Given the description of an element on the screen output the (x, y) to click on. 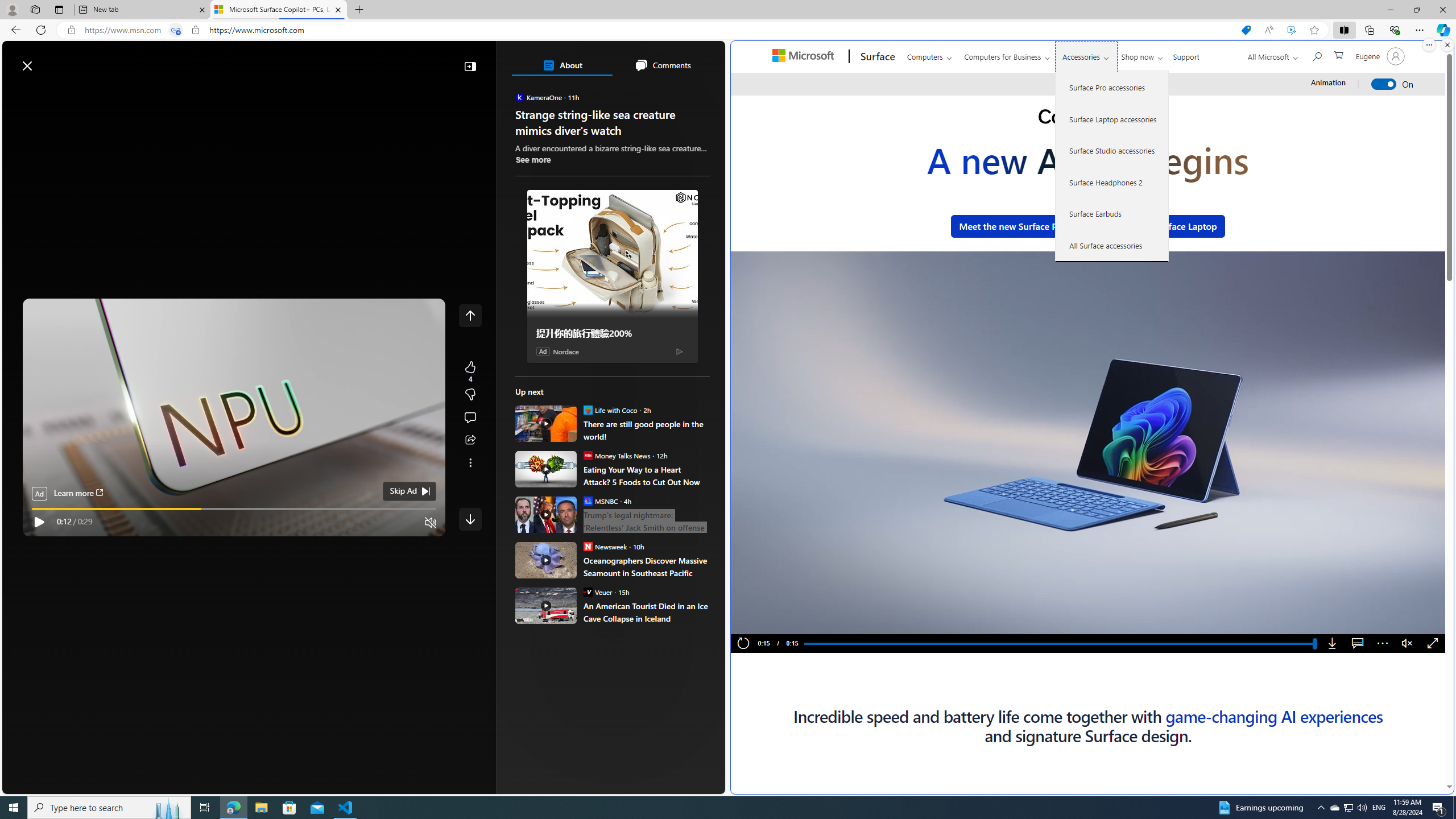
Veuer Veuer (597, 591)
Surface Pro accessories (1112, 87)
Share this story (469, 440)
Replay (742, 643)
An American Tourist Died in an Ice Cave Collapse in Iceland (646, 611)
Microsoft rewards (654, 60)
Veuer (587, 591)
Search Microsoft.com (1316, 54)
